Given the description of an element on the screen output the (x, y) to click on. 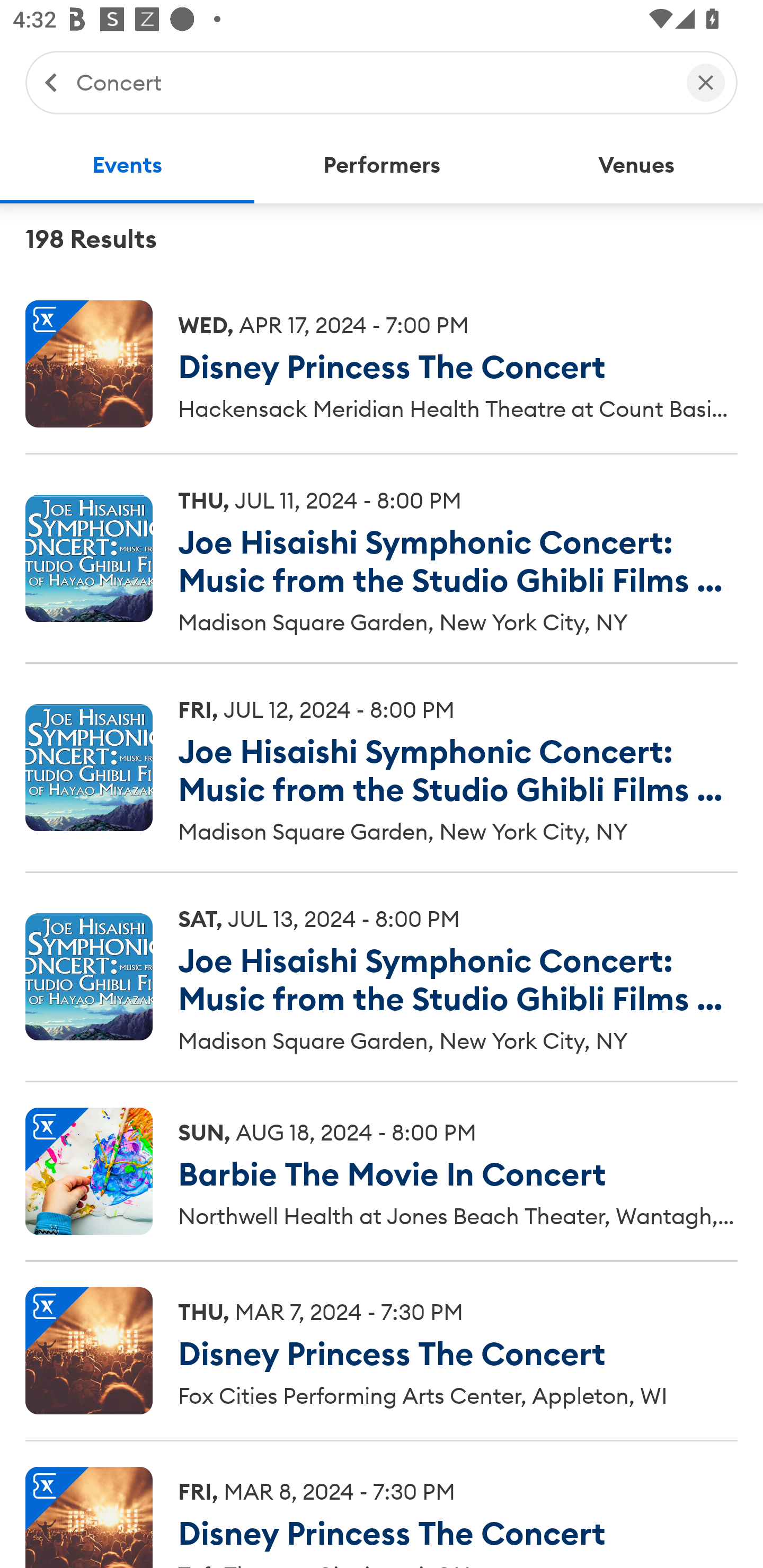
Concert (371, 81)
Clear Search (705, 81)
Performers (381, 165)
Venues (635, 165)
